Given the description of an element on the screen output the (x, y) to click on. 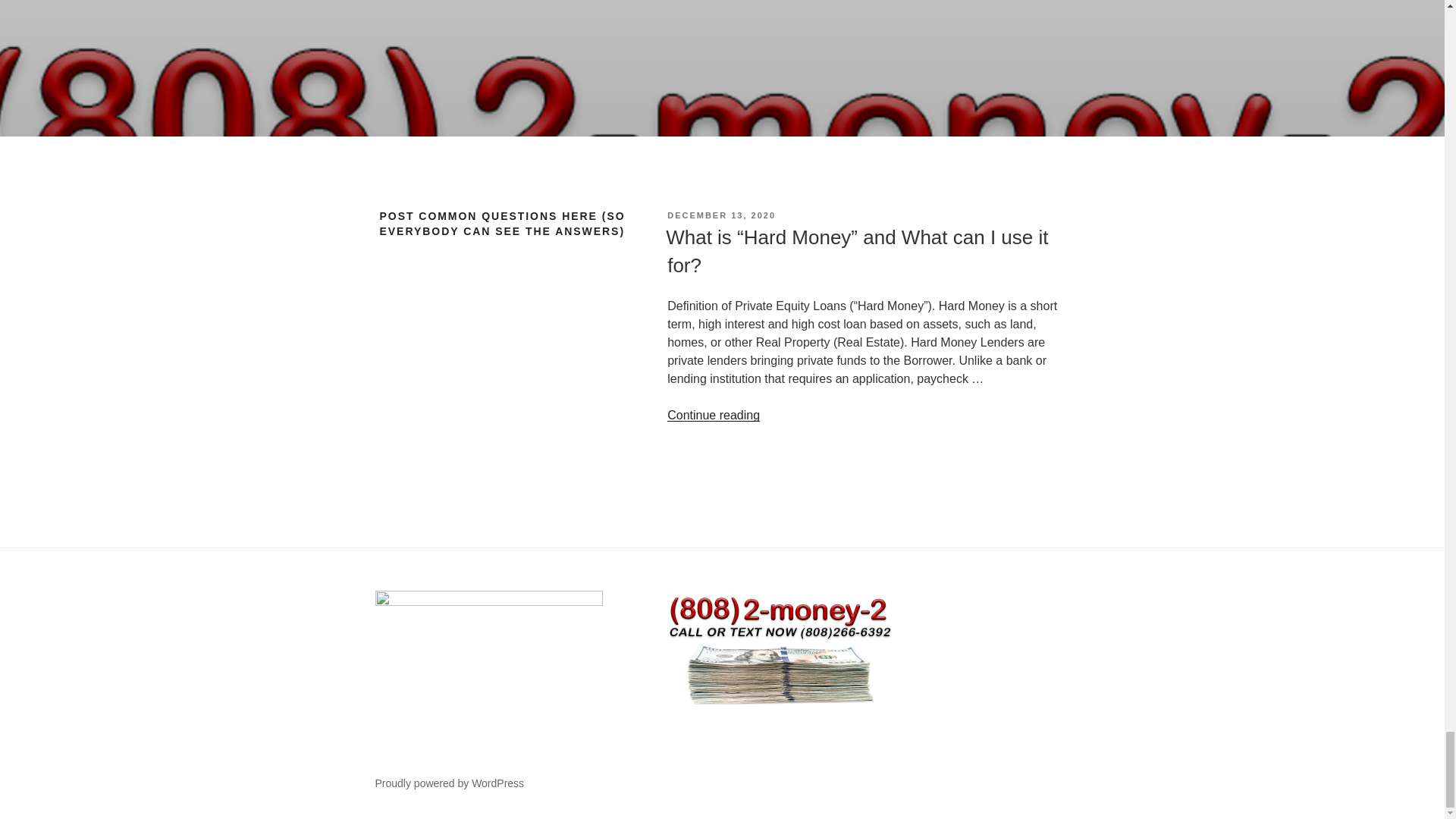
Proudly powered by WordPress (449, 783)
DECEMBER 13, 2020 (721, 215)
